Given the description of an element on the screen output the (x, y) to click on. 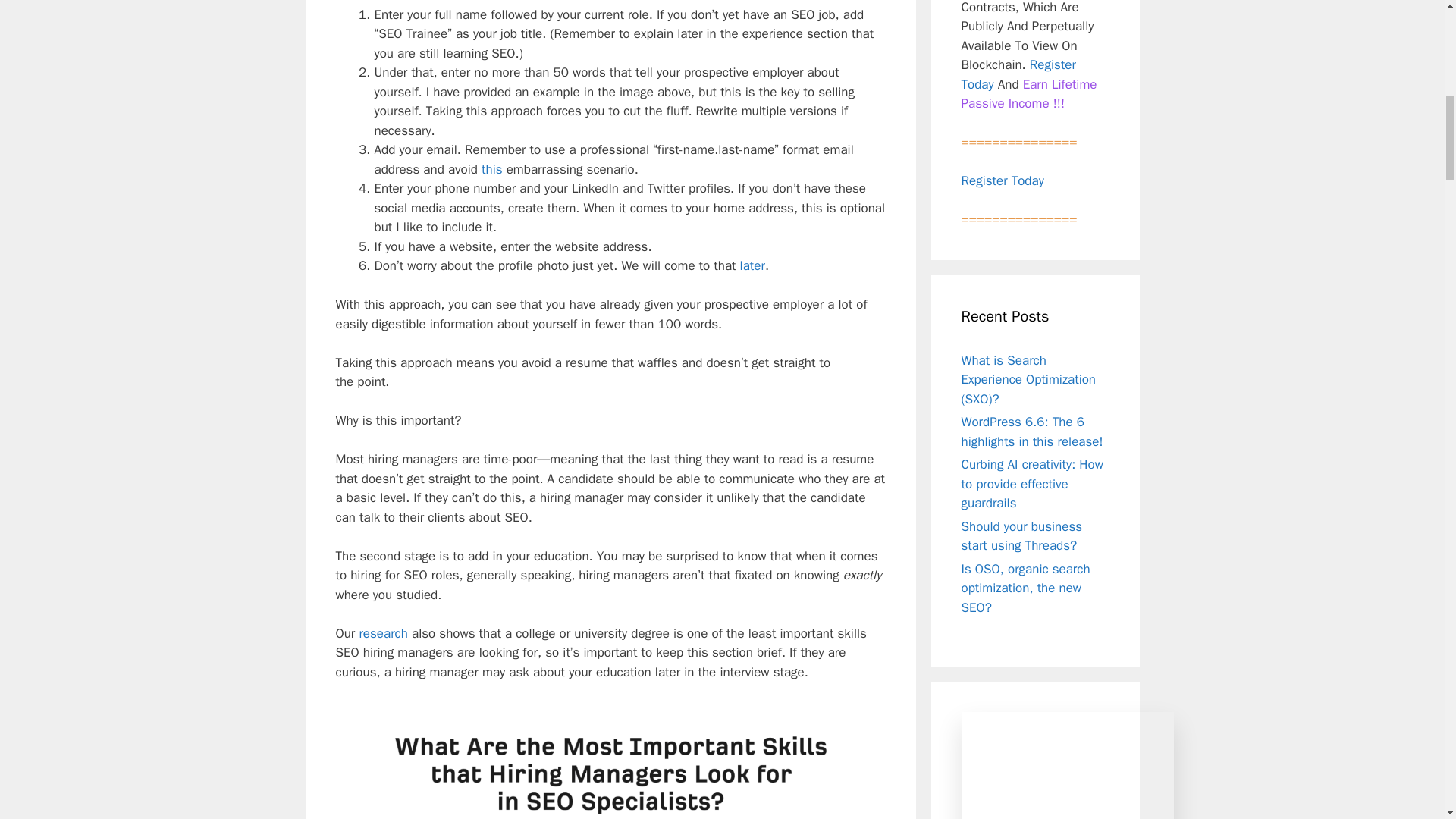
Should your business start using Threads? (1021, 536)
Register Today (1017, 74)
later (752, 265)
Is OSO, organic search optimization, the new SEO? (1025, 588)
this (491, 169)
Scroll back to top (1406, 720)
WordPress 6.6: The 6 highlights in this release! (1031, 431)
Curbing AI creativity: How to provide effective guardrails (1031, 483)
research (382, 633)
Register Today (1001, 180)
